Given the description of an element on the screen output the (x, y) to click on. 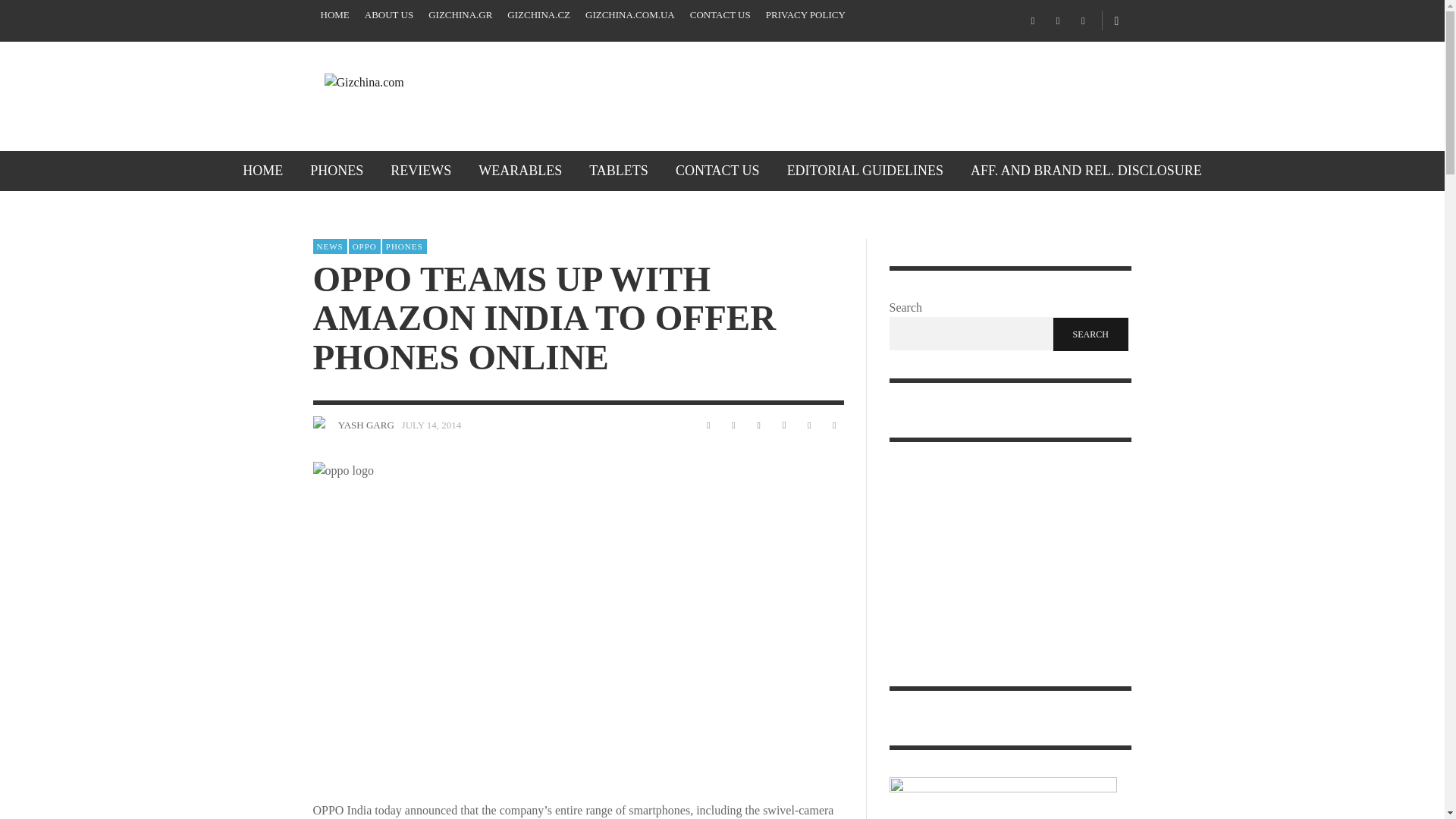
CONTACT US (720, 15)
HOME (262, 170)
ABOUT US (388, 15)
REVIEWS (420, 170)
GIZCHINA.COM.UA (630, 15)
PHONES (337, 170)
GIZCHINA.GR (459, 15)
GIZCHINA.CZ (538, 15)
HOME (334, 15)
PRIVACY POLICY (805, 15)
